Given the description of an element on the screen output the (x, y) to click on. 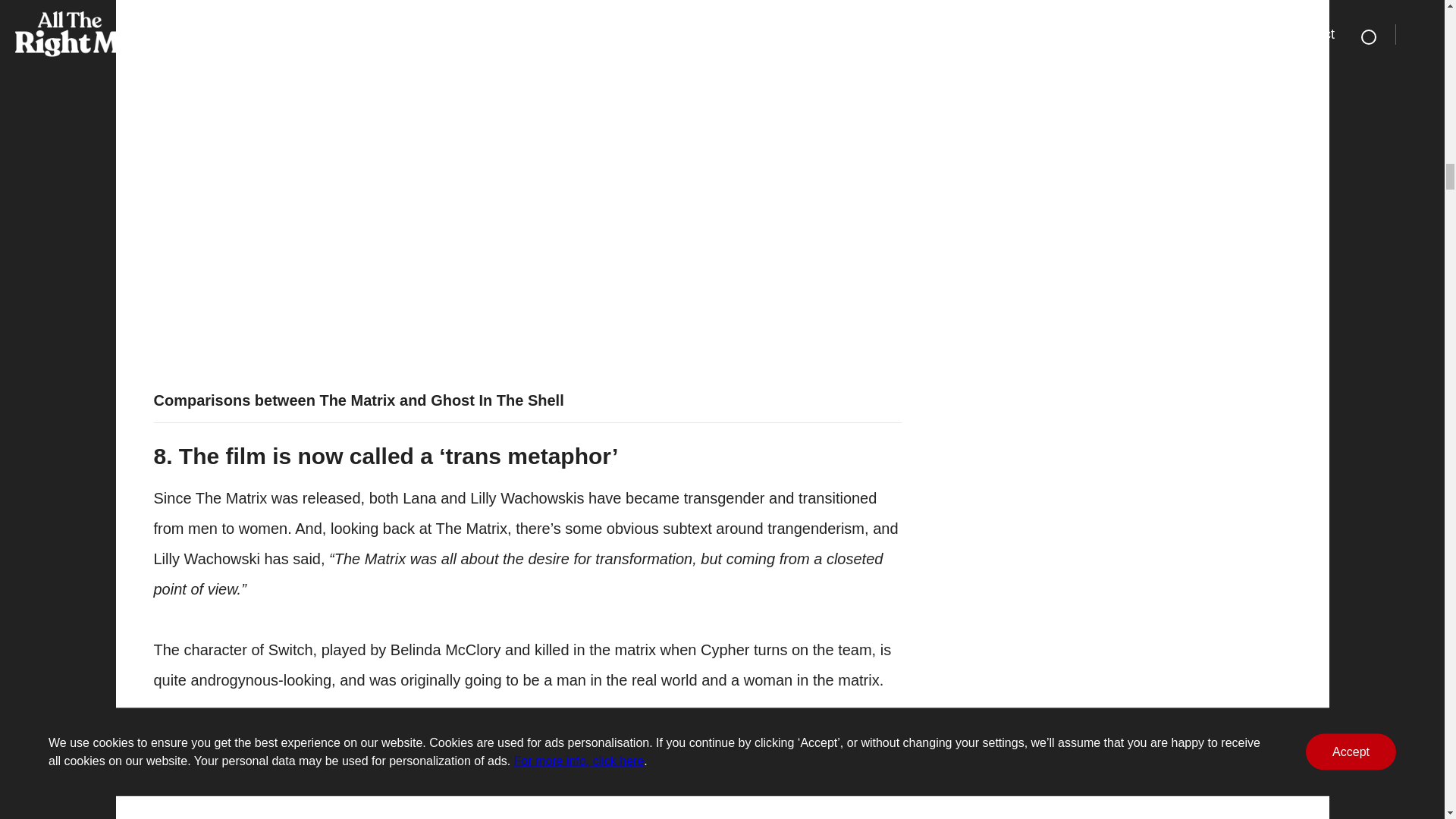
The Matrix Copied Ghost In The Shell!! (395, 111)
